Given the description of an element on the screen output the (x, y) to click on. 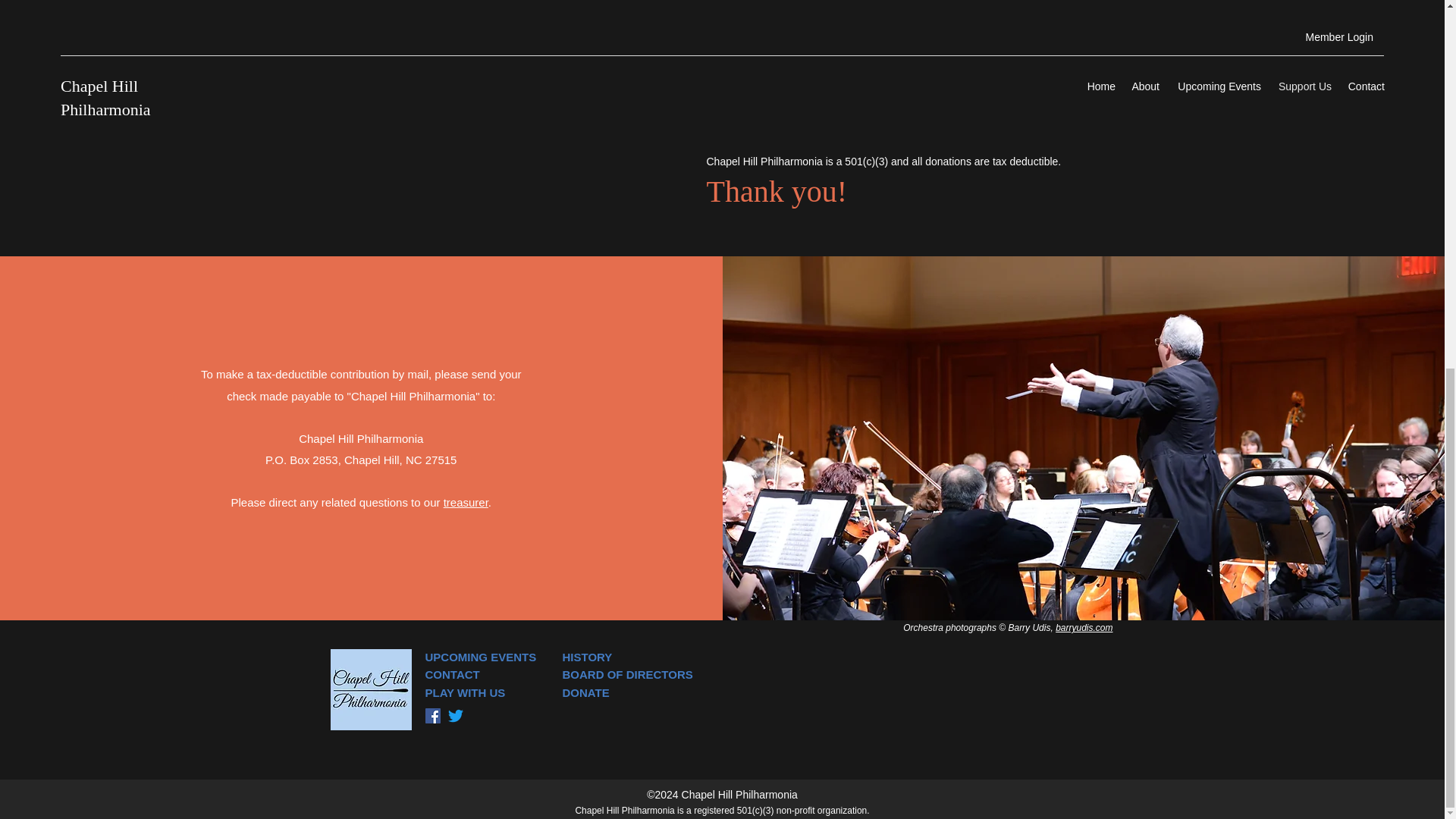
DONATE (586, 692)
CONTACT (452, 674)
UPCOMING EVENTS (480, 656)
barryudis.com (1083, 627)
Embedded Content (958, 696)
Embedded Content (539, 117)
HISTORY (587, 656)
PLAY WITH US (465, 692)
BOARD OF DIRECTORS (627, 674)
treasurer (465, 502)
